Given the description of an element on the screen output the (x, y) to click on. 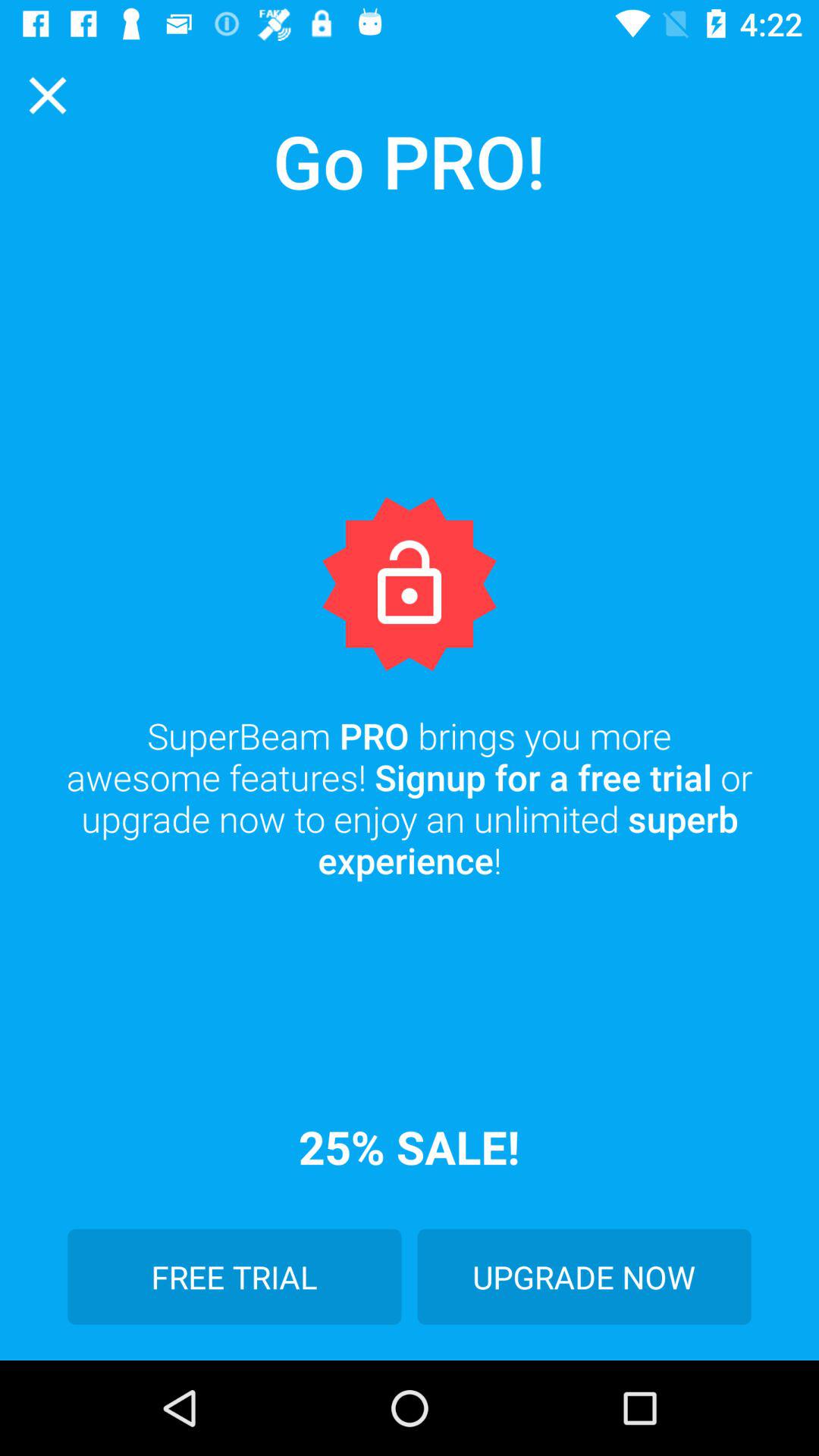
exit upgrade account screen (47, 95)
